Given the description of an element on the screen output the (x, y) to click on. 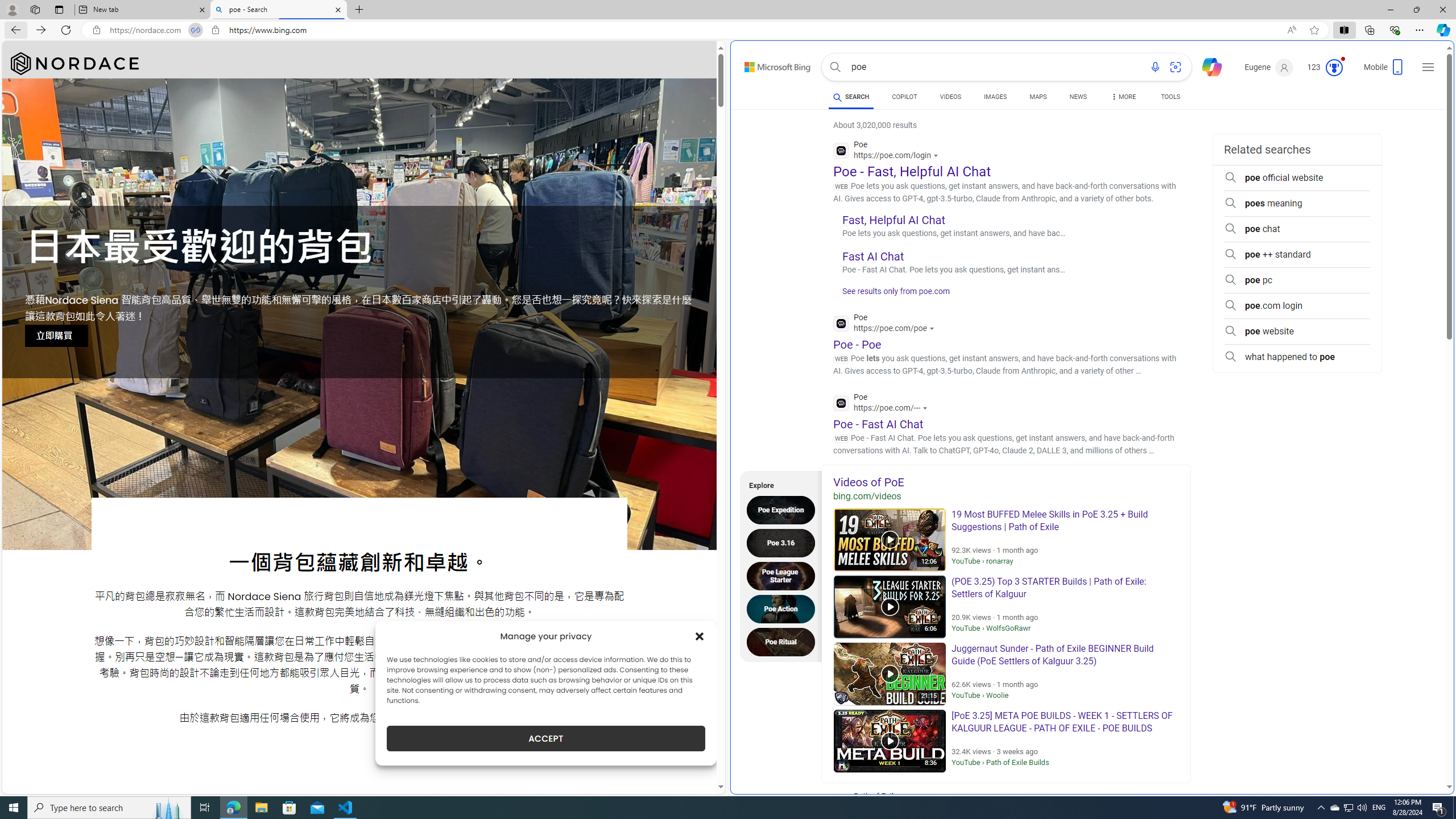
MORE (1123, 98)
TOOLS (1171, 98)
Class: cmplz-close (699, 636)
Poe 3.16 (783, 542)
Poe Ritual (783, 641)
Settings and quick links (1428, 67)
Chat (1207, 65)
COPILOT (903, 96)
